Given the description of an element on the screen output the (x, y) to click on. 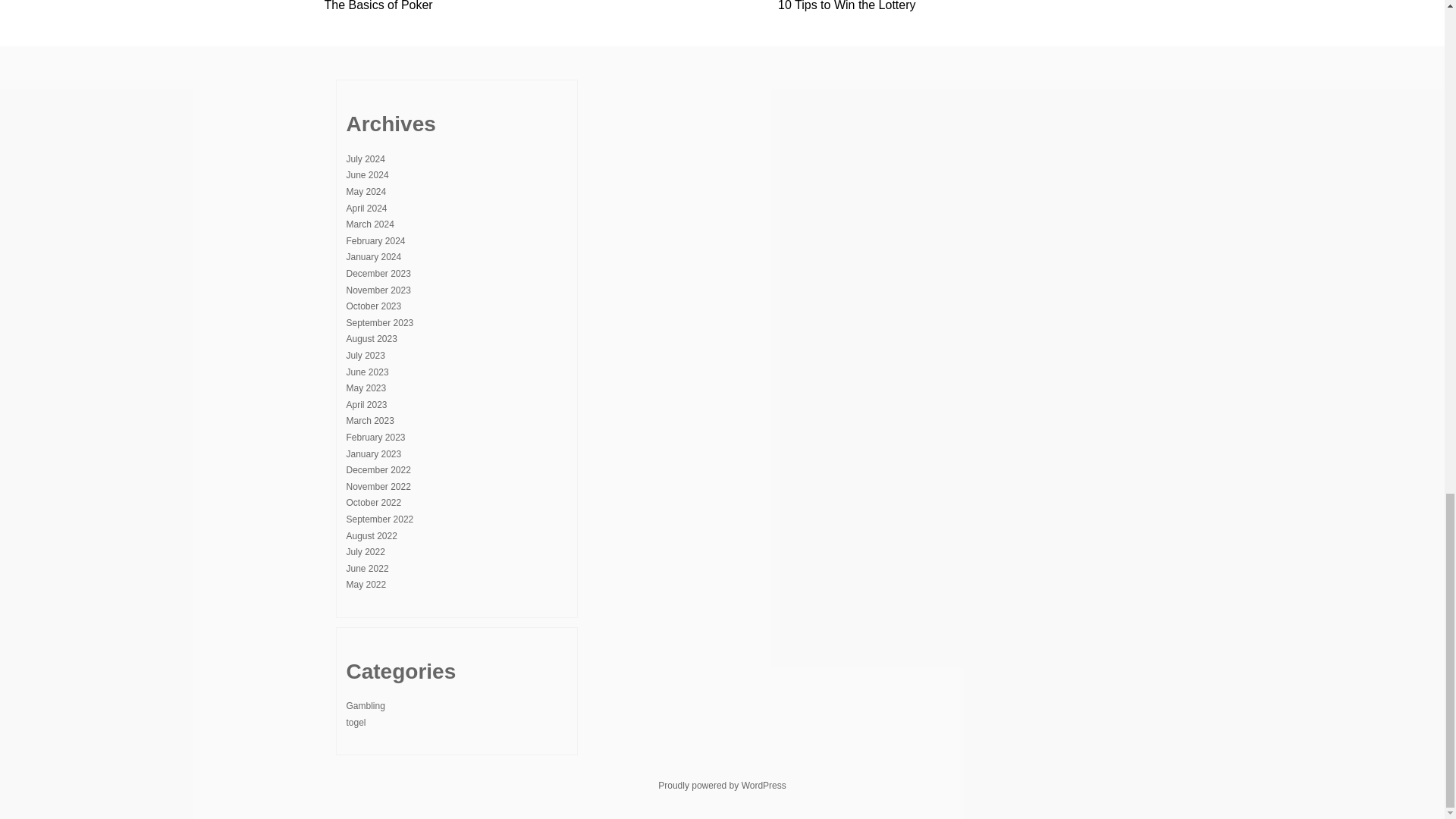
April 2024 (366, 208)
March 2024 (369, 224)
October 2023 (373, 306)
August 2023 (371, 338)
June 2024 (367, 174)
10 Tips to Win the Lottery (846, 5)
July 2023 (365, 355)
The Basics of Poker (378, 5)
November 2023 (378, 290)
February 2024 (375, 240)
May 2024 (365, 191)
January 2024 (373, 256)
September 2023 (379, 322)
July 2024 (365, 158)
